Given the description of an element on the screen output the (x, y) to click on. 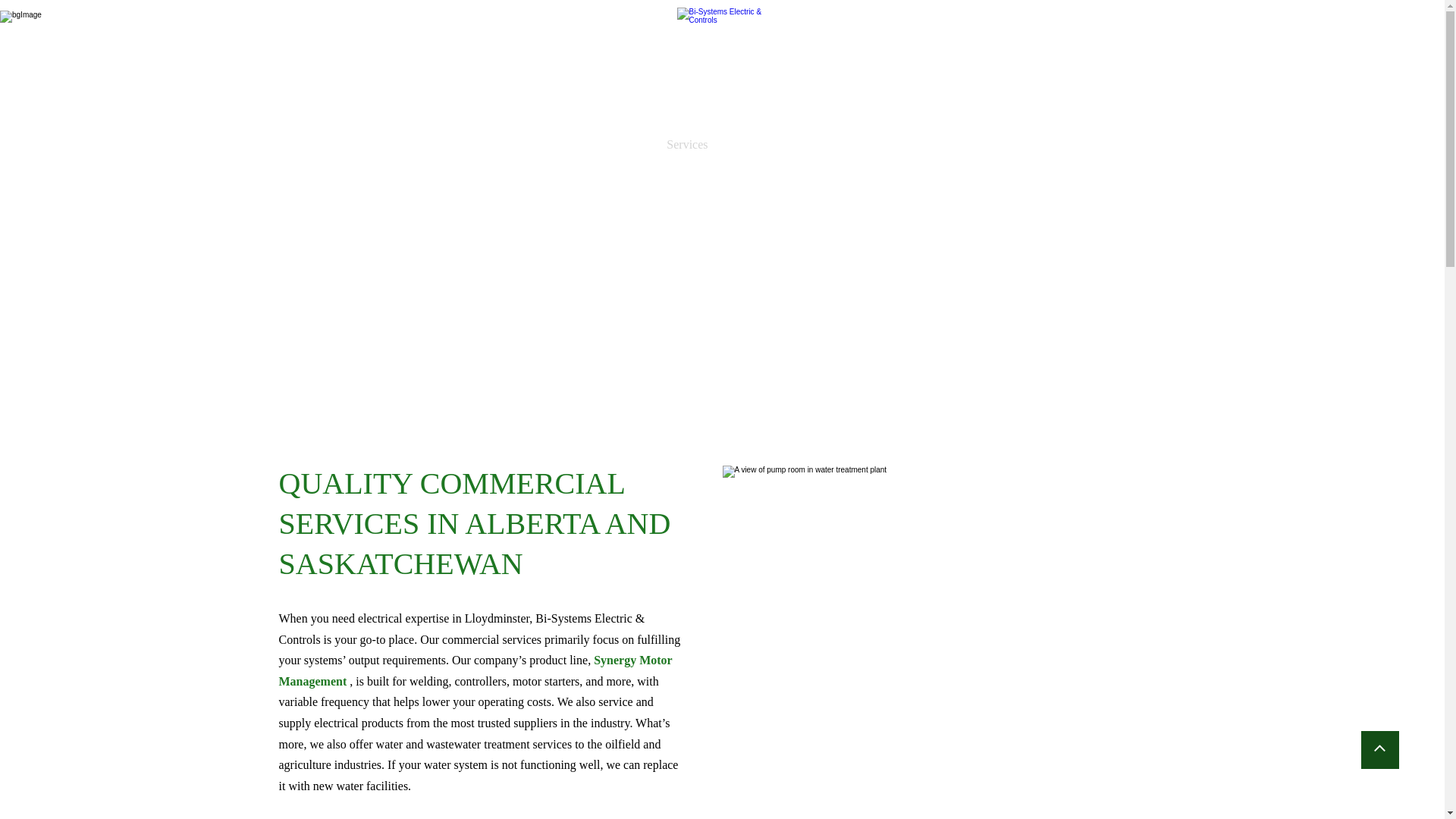
Contact Us Element type: text (894, 144)
Services Element type: text (686, 144)
admin@bisystems.ab.ca Element type: text (1052, 77)
Synergy Motor Management Element type: text (475, 670)
Panel Shop Element type: text (758, 144)
Gallery Element type: text (826, 144)
Home Element type: text (559, 144)
About Us Element type: text (620, 144)
